Given the description of an element on the screen output the (x, y) to click on. 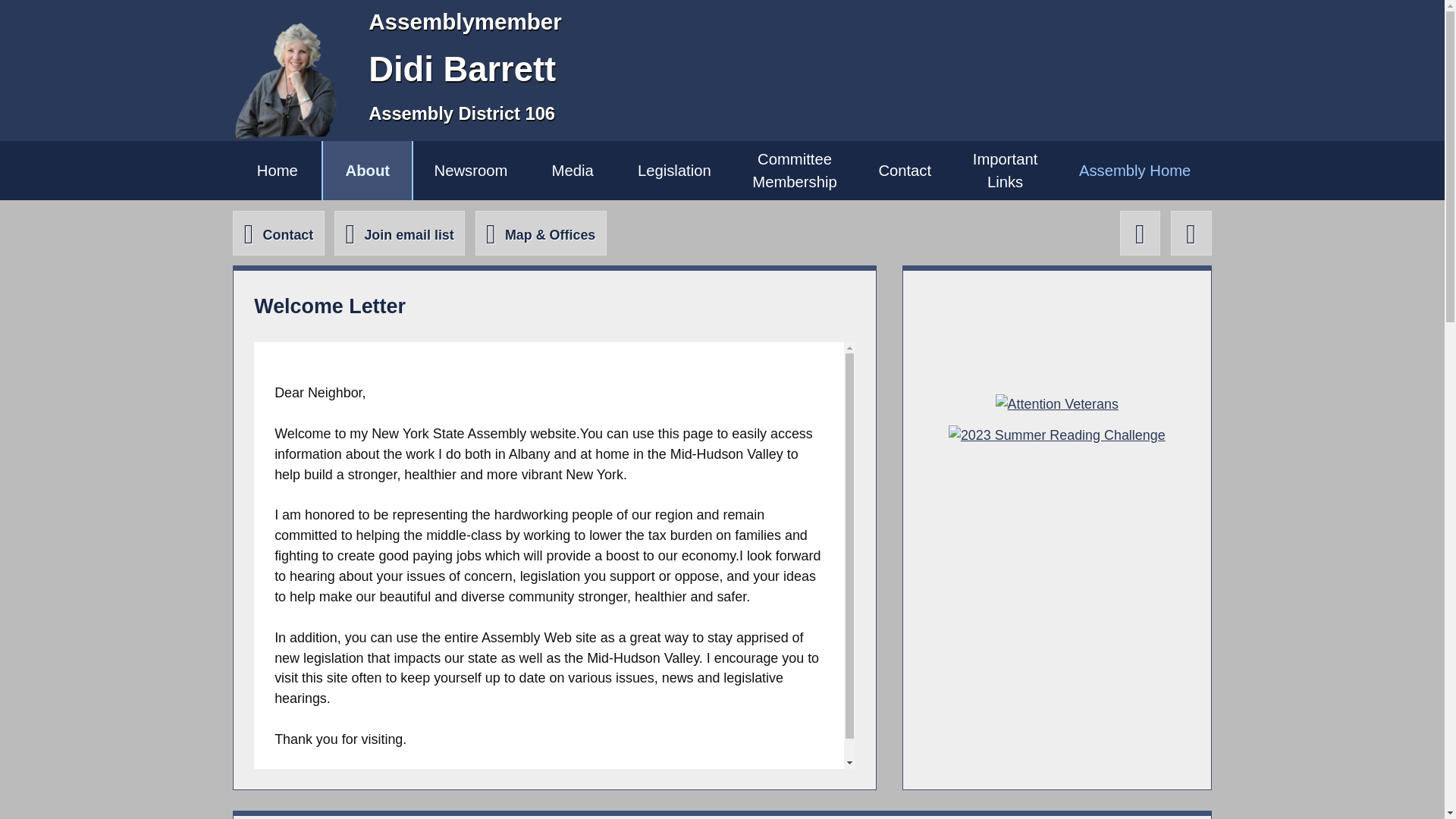
Attention Veterans (1056, 403)
Contact (1005, 169)
Media (277, 232)
 Didi Barrett X-Twitter (572, 169)
Legislation (1190, 232)
 Didi Barrett Facebook (674, 169)
Join email list (1139, 232)
About (399, 232)
